Given the description of an element on the screen output the (x, y) to click on. 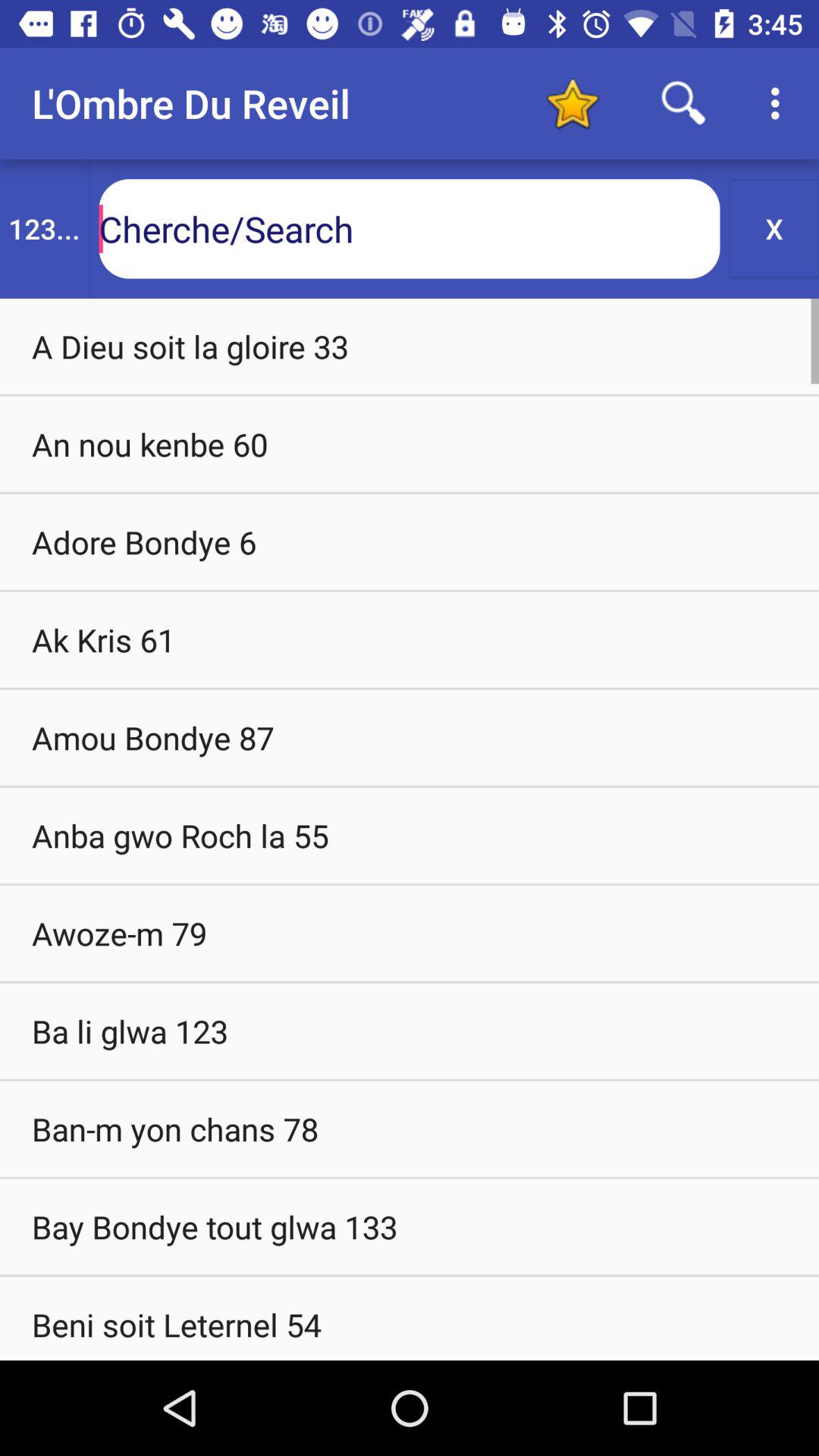
flip until the amou bondye 87 icon (409, 737)
